Given the description of an element on the screen output the (x, y) to click on. 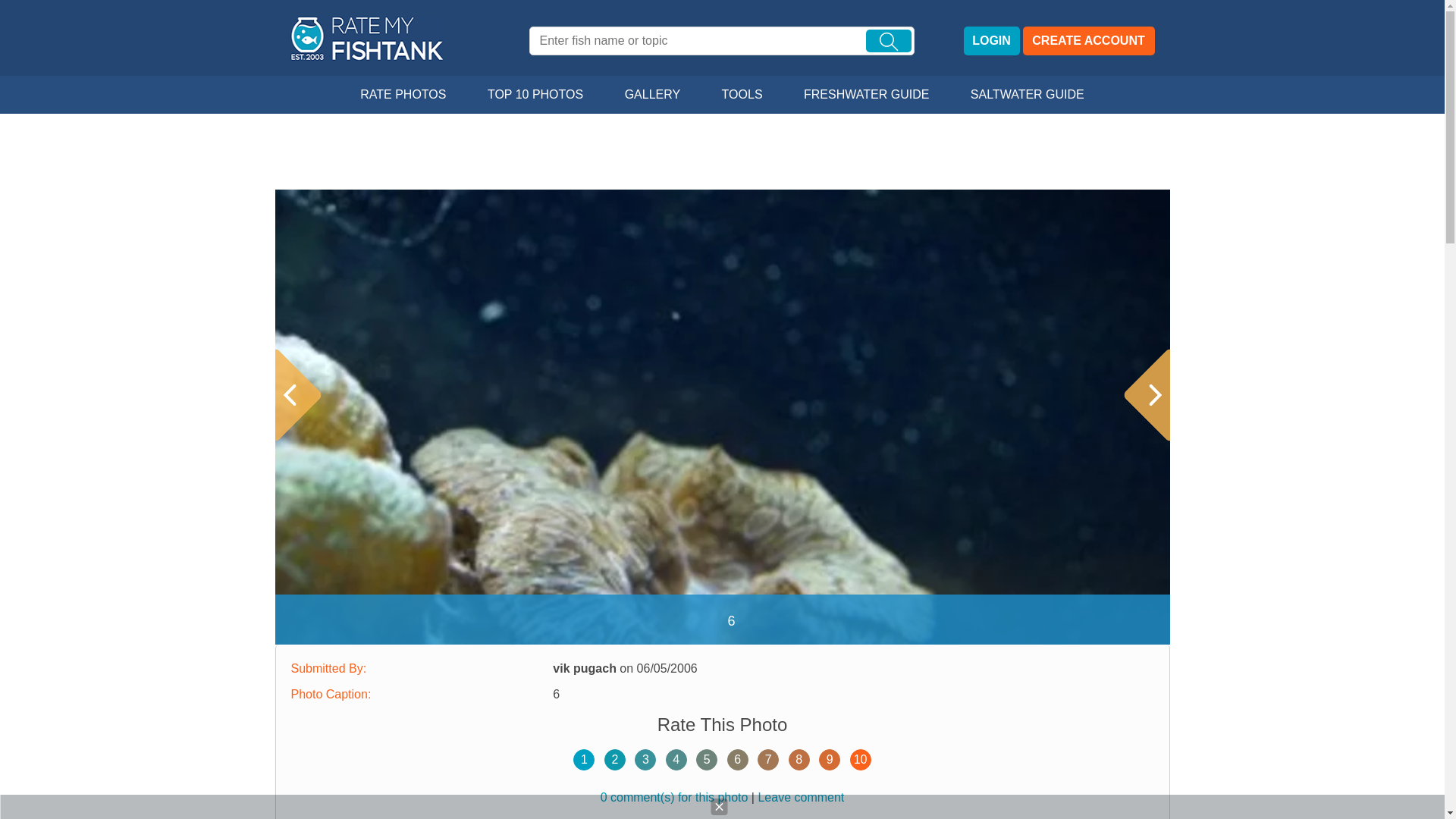
8 (799, 759)
TOP 10 PHOTOS (535, 94)
7 (767, 759)
10 (860, 759)
LOGIN (990, 40)
9 (829, 759)
Leave comment (800, 797)
4 (676, 759)
Rate My Fishtank - Established 2003 (368, 38)
2 (615, 759)
